Given the description of an element on the screen output the (x, y) to click on. 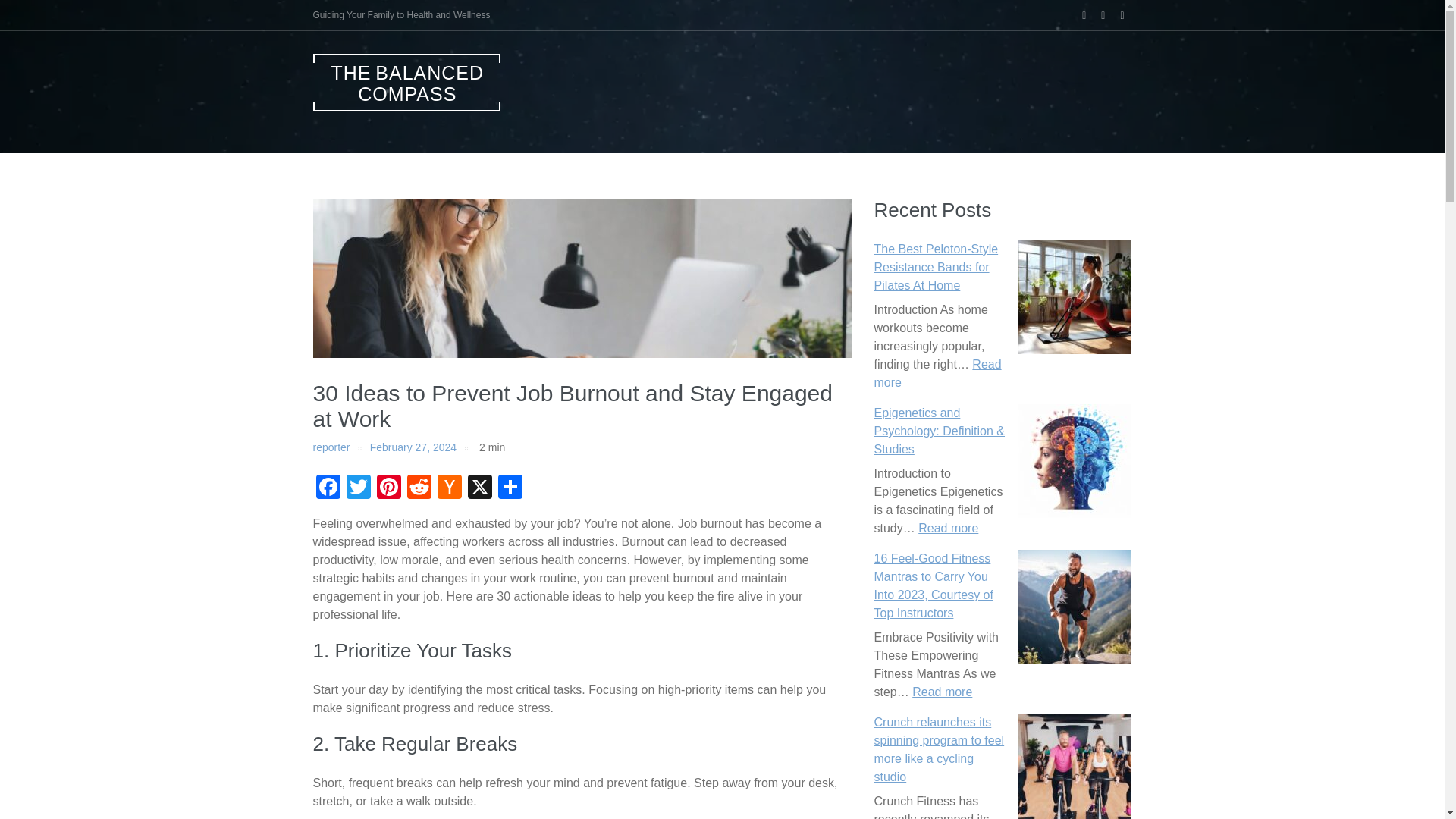
Facebook (327, 488)
Pinterest (387, 488)
Hacker News (448, 488)
Reddit (418, 488)
February 27, 2024 (413, 447)
X (479, 488)
Reading Time (484, 447)
